Given the description of an element on the screen output the (x, y) to click on. 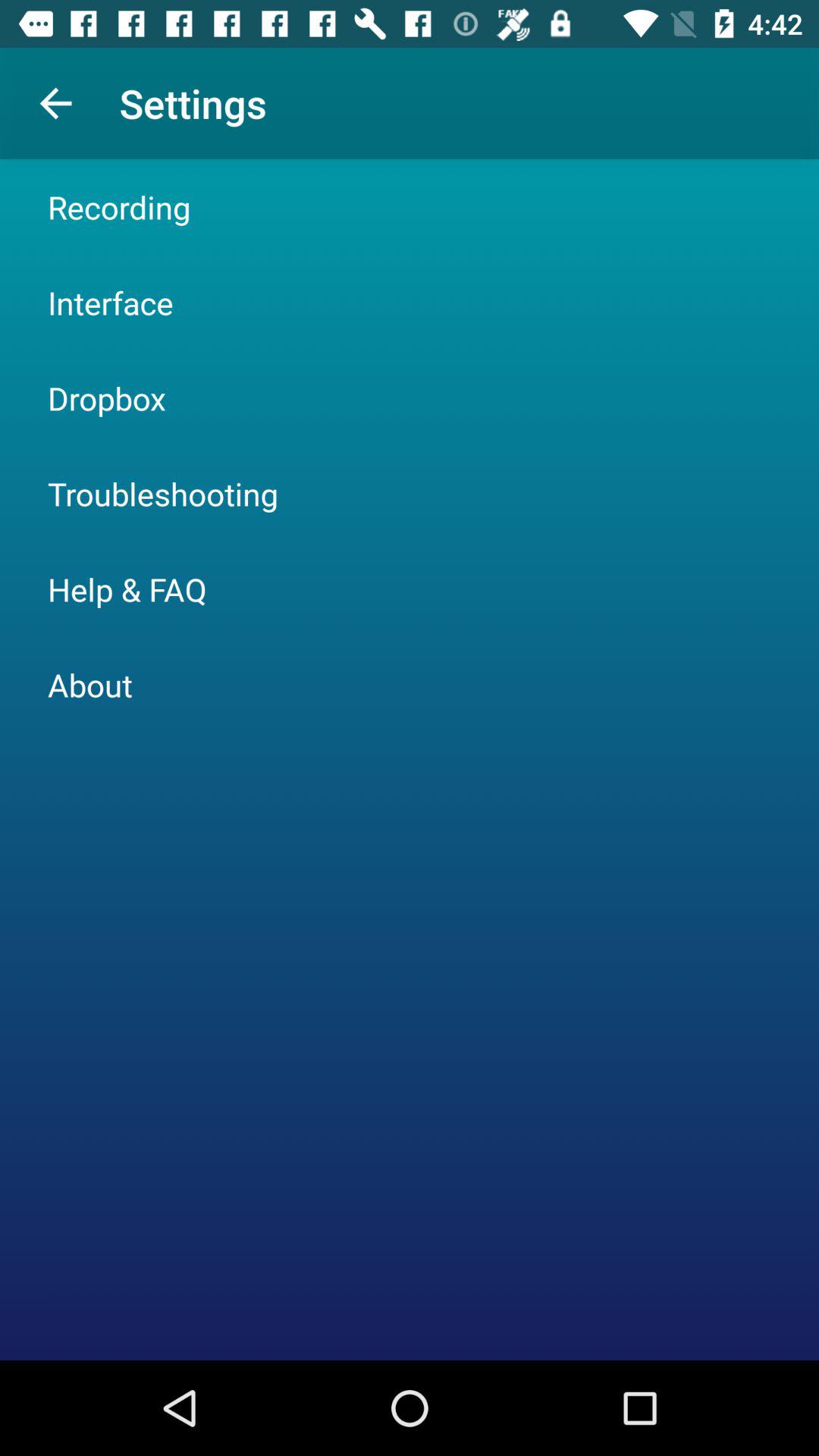
tap the icon above the about icon (127, 588)
